Given the description of an element on the screen output the (x, y) to click on. 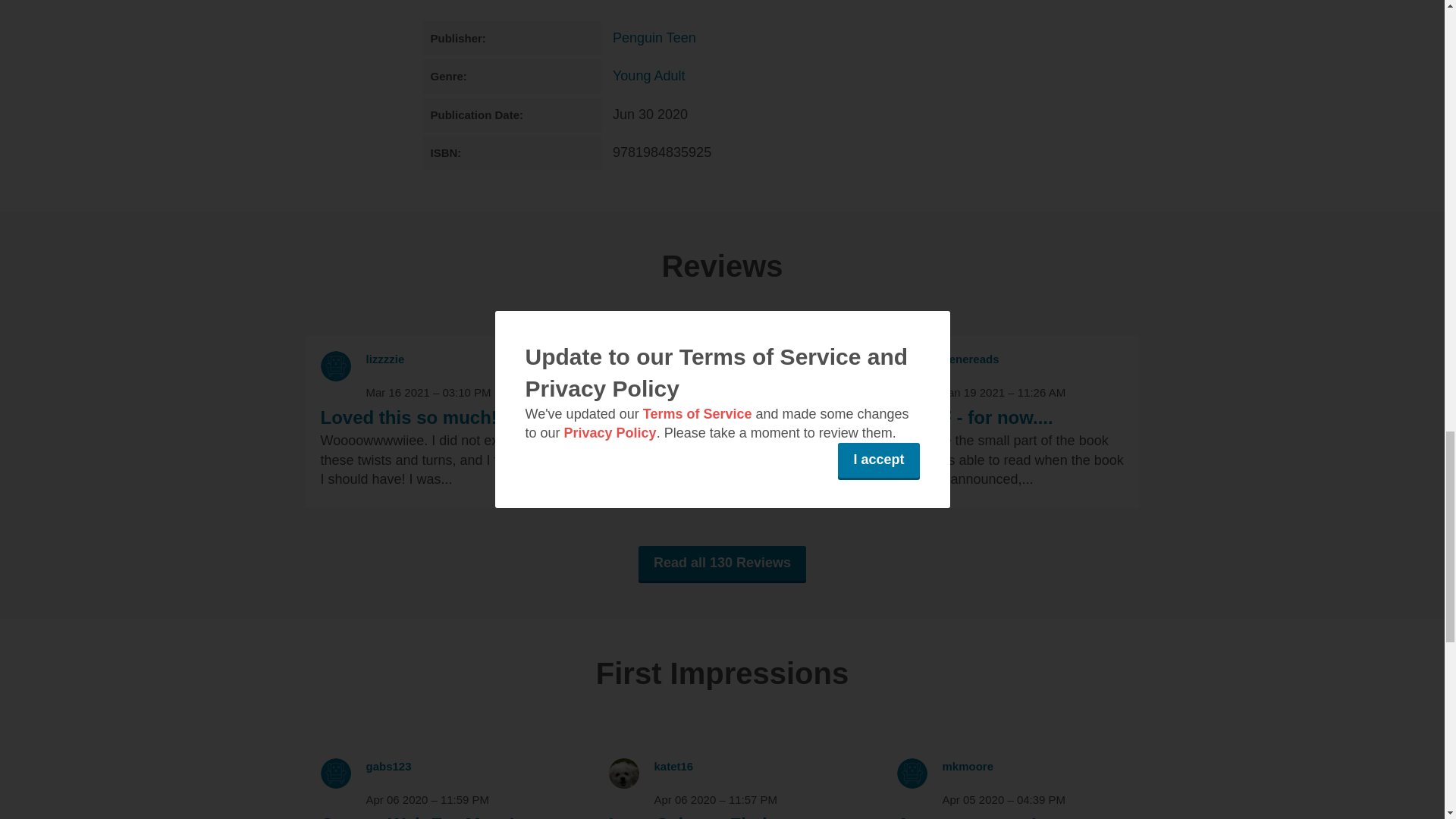
katet16 (673, 766)
gabs123 (387, 766)
leestephaniel01 (695, 358)
filled star (677, 373)
genereads (970, 358)
filled star (389, 373)
